Given the description of an element on the screen output the (x, y) to click on. 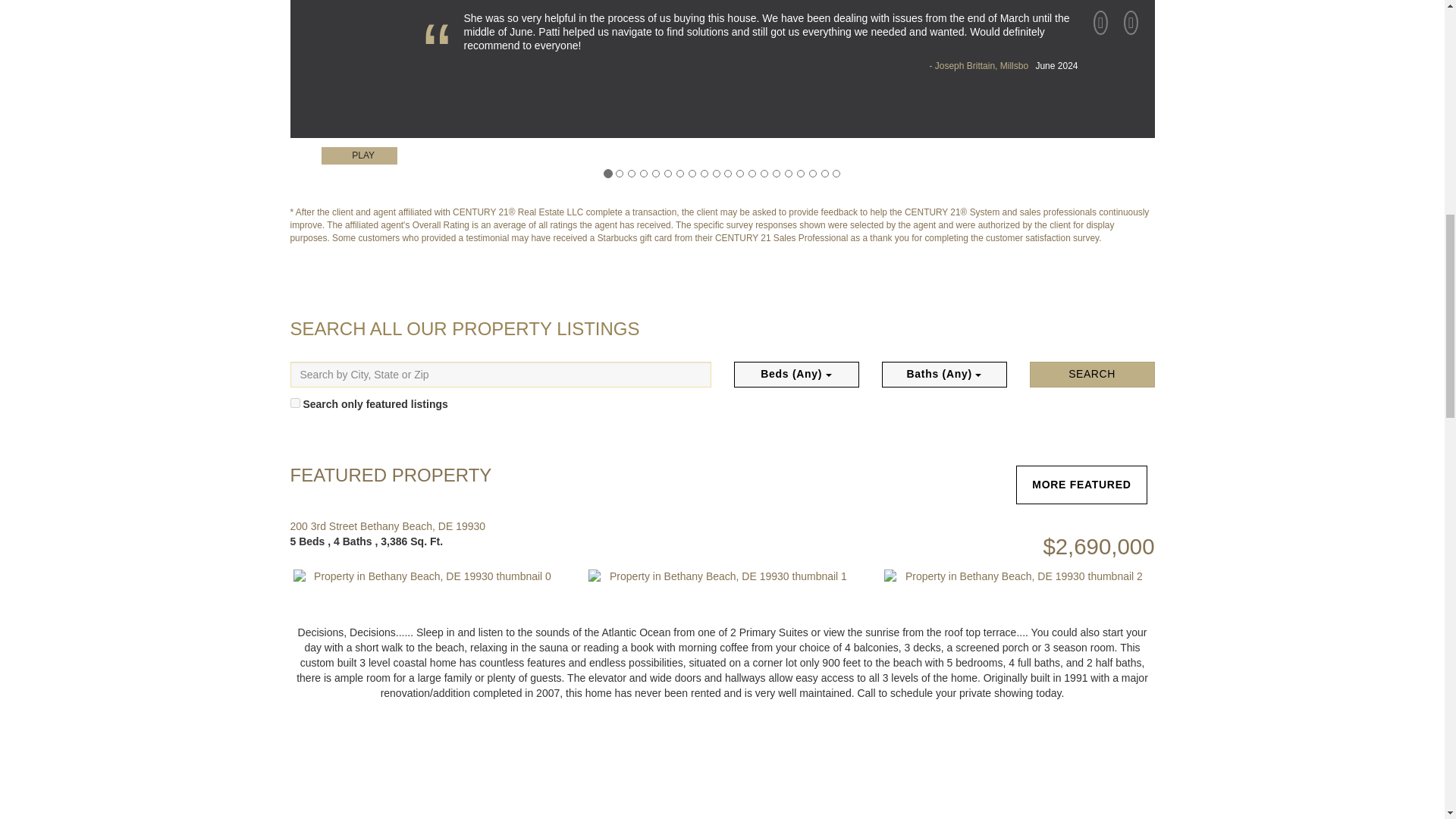
Previous (1101, 32)
Next (1131, 32)
on (294, 402)
PLAY (358, 155)
